Given the description of an element on the screen output the (x, y) to click on. 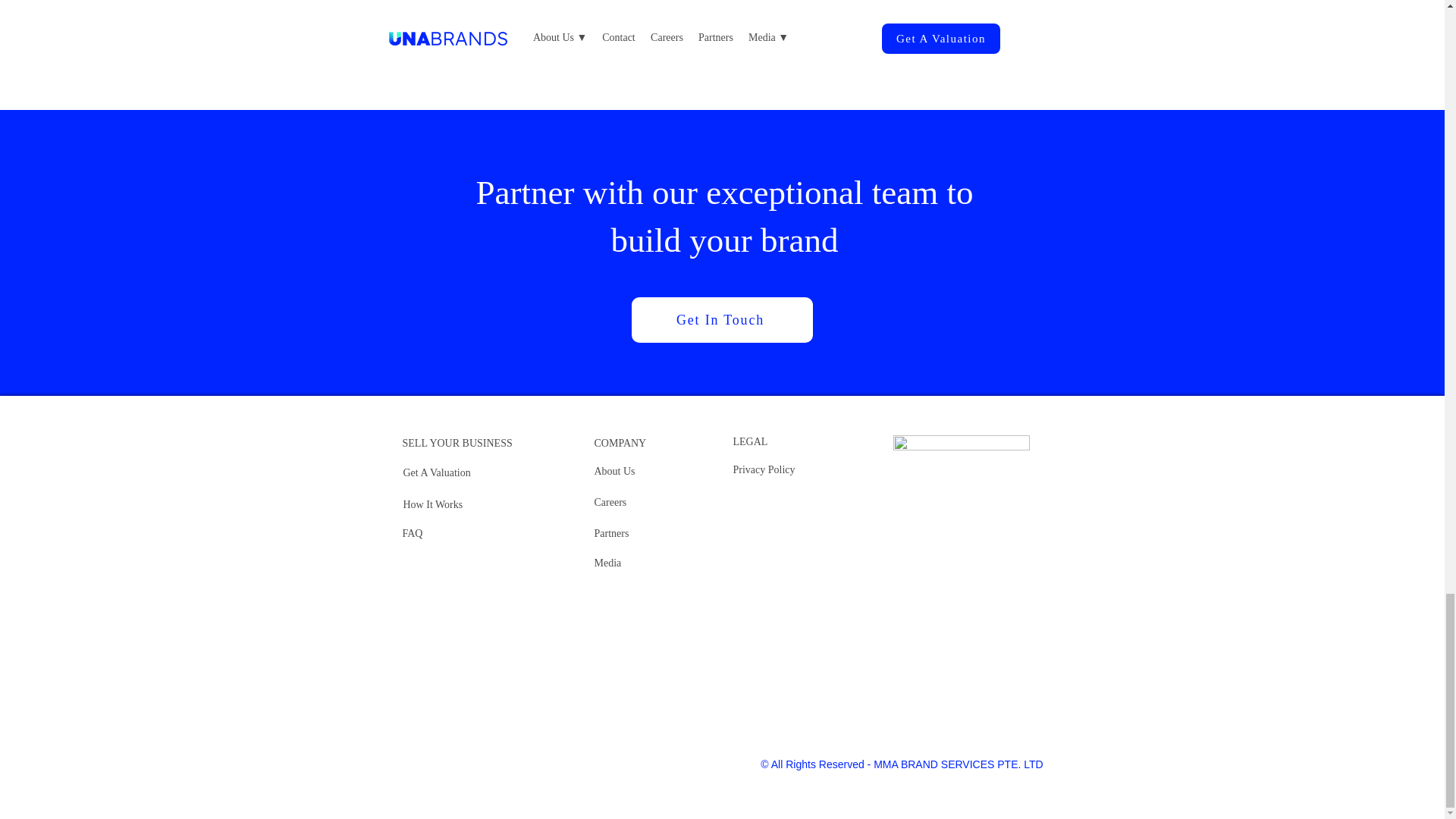
Partners (611, 532)
Una Brands2000x250.png (961, 442)
Get A Valuation (436, 472)
FAQ (411, 532)
Media (607, 562)
Careers (610, 501)
Privacy Policy (763, 469)
How It Works (433, 504)
Get In Touch (721, 320)
About Us (614, 471)
